Given the description of an element on the screen output the (x, y) to click on. 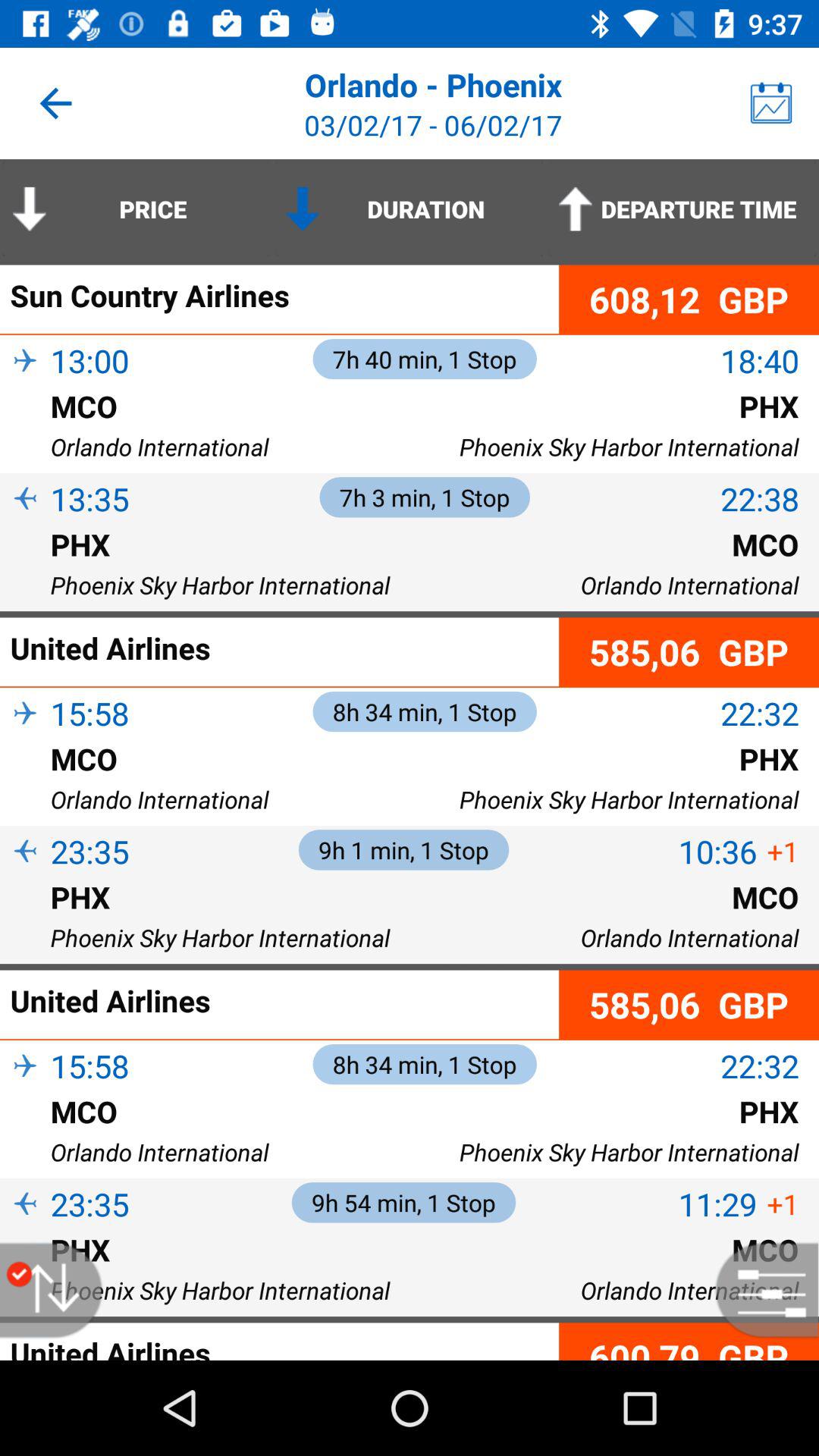
jump to the 10:36 icon (717, 851)
